Given the description of an element on the screen output the (x, y) to click on. 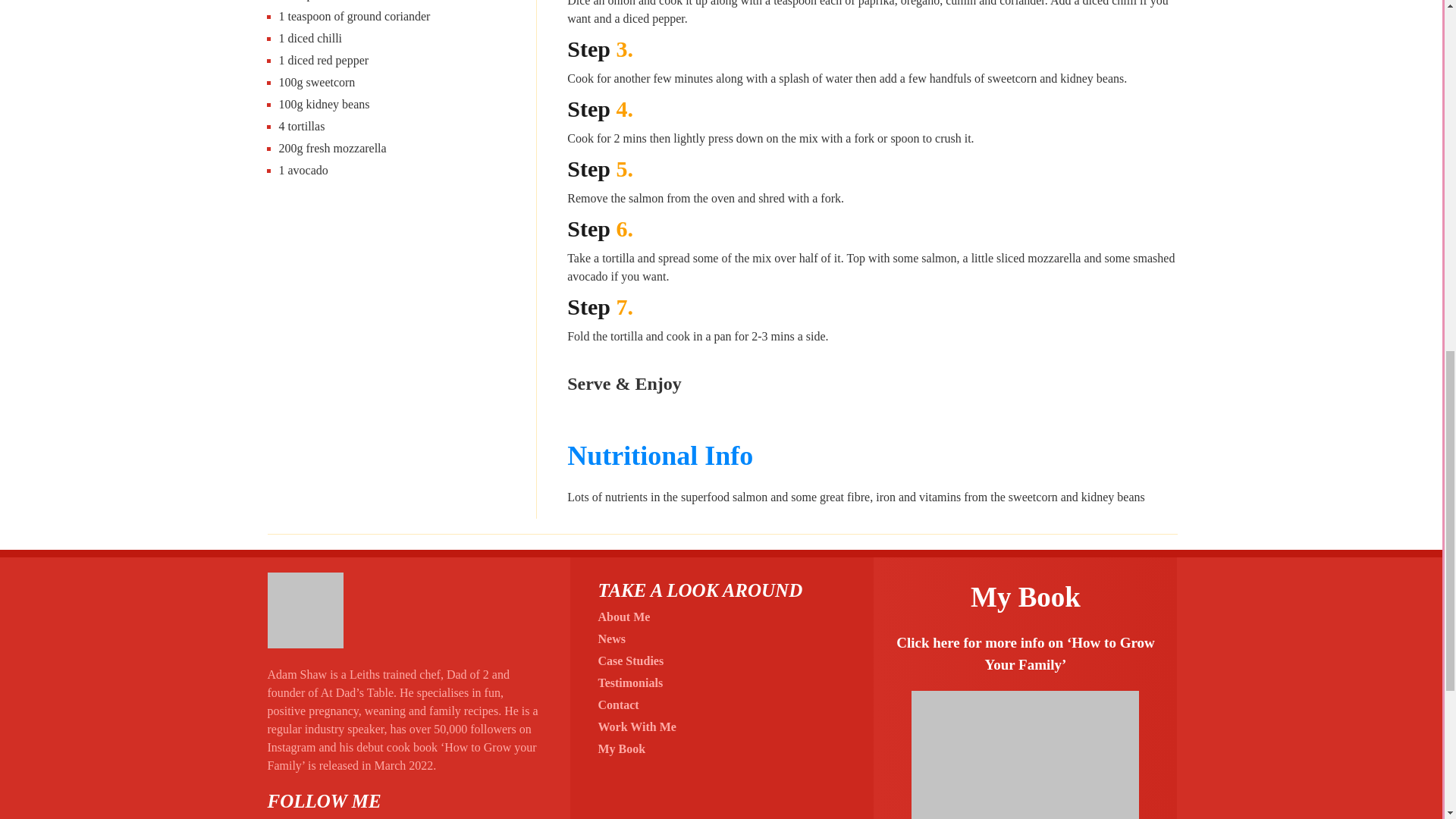
News (610, 638)
About Me (622, 616)
